Given the description of an element on the screen output the (x, y) to click on. 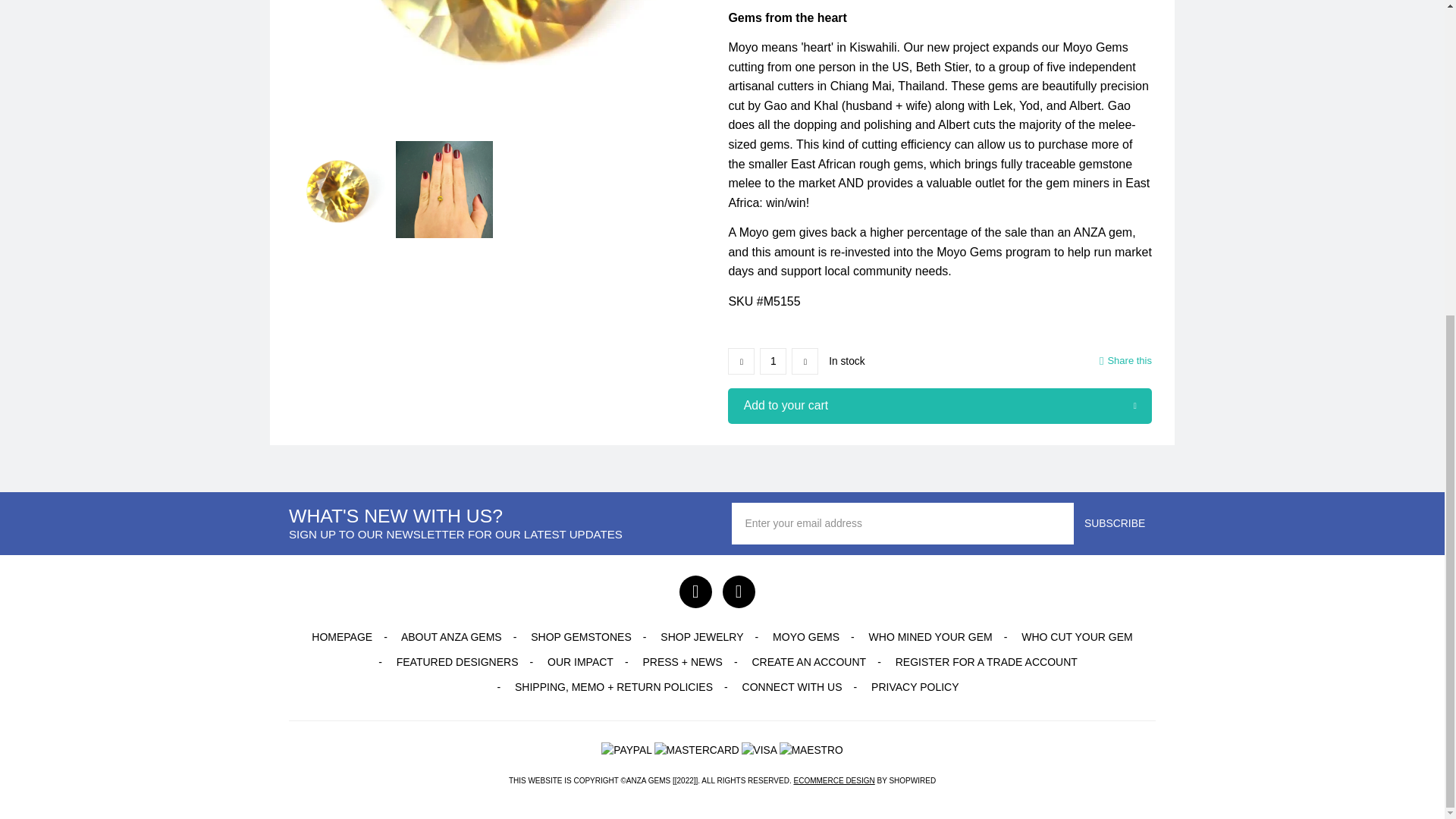
1 (773, 361)
